Given the description of an element on the screen output the (x, y) to click on. 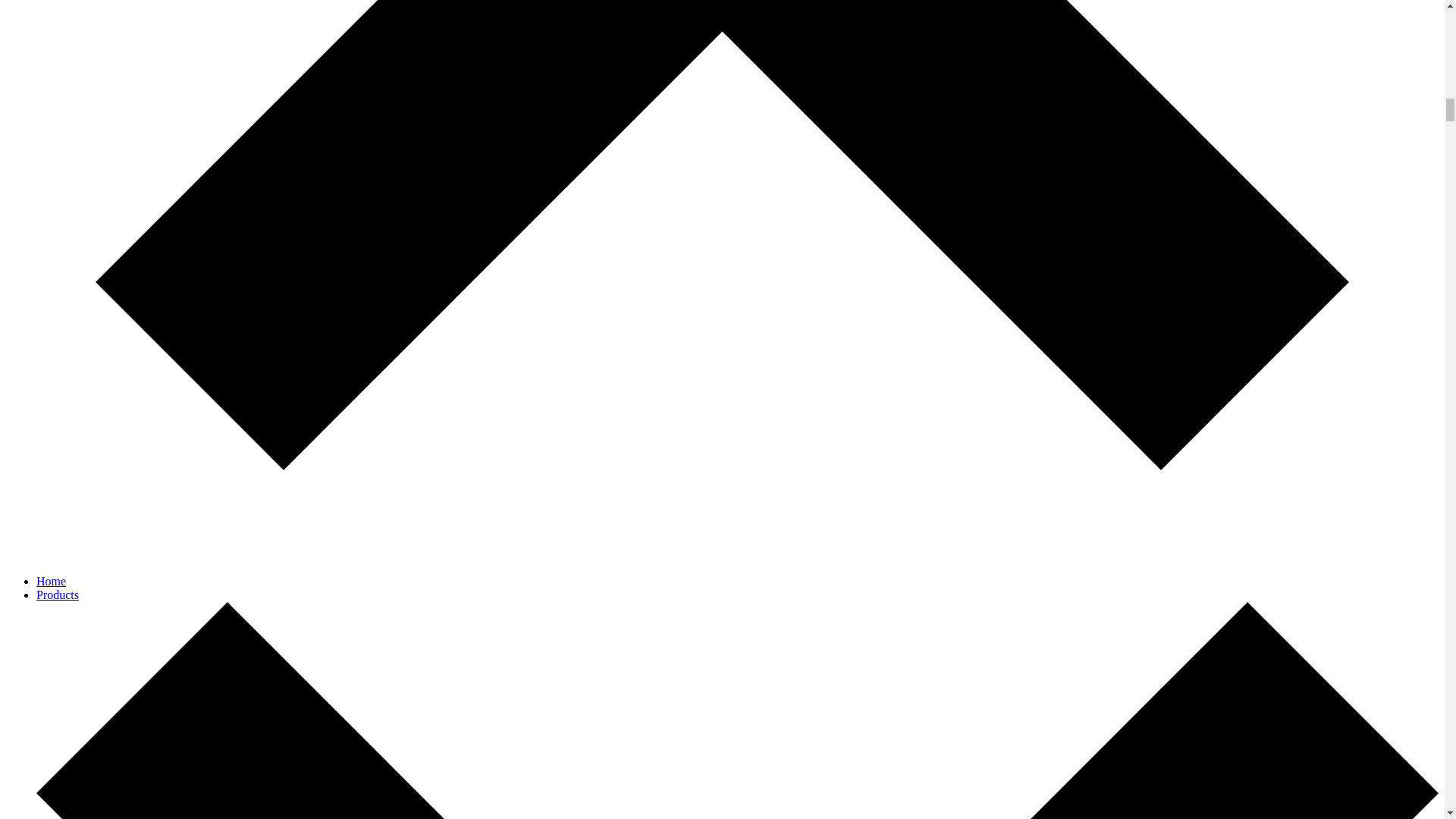
Home (50, 581)
home (50, 581)
